Given the description of an element on the screen output the (x, y) to click on. 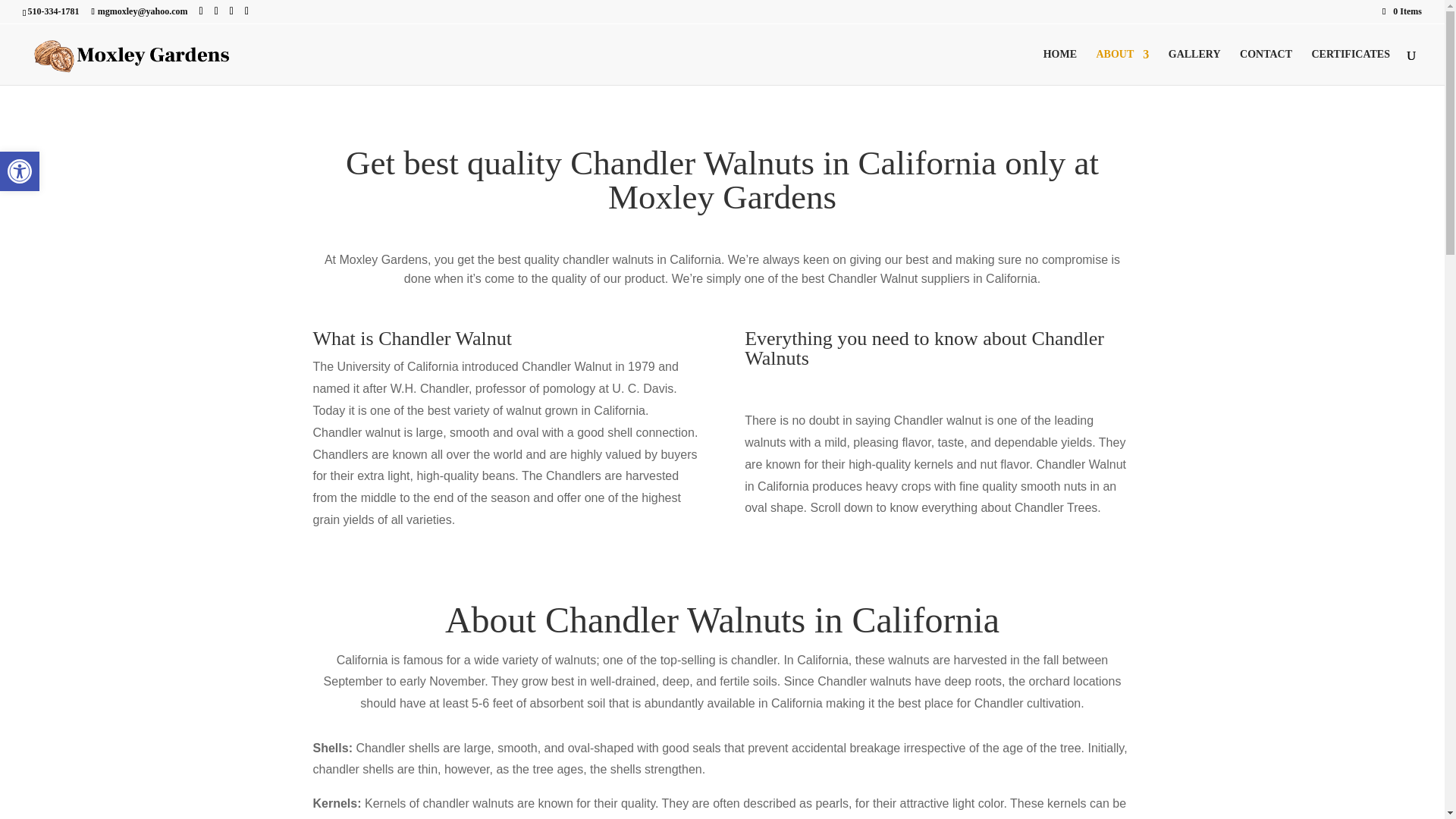
HOME (1060, 67)
CONTACT (19, 170)
Accessibility Tools (1266, 67)
ABOUT (19, 170)
Accessibility Tools (1122, 67)
CERTIFICATES (19, 170)
0 Items (1350, 67)
GALLERY (1401, 10)
